Given the description of an element on the screen output the (x, y) to click on. 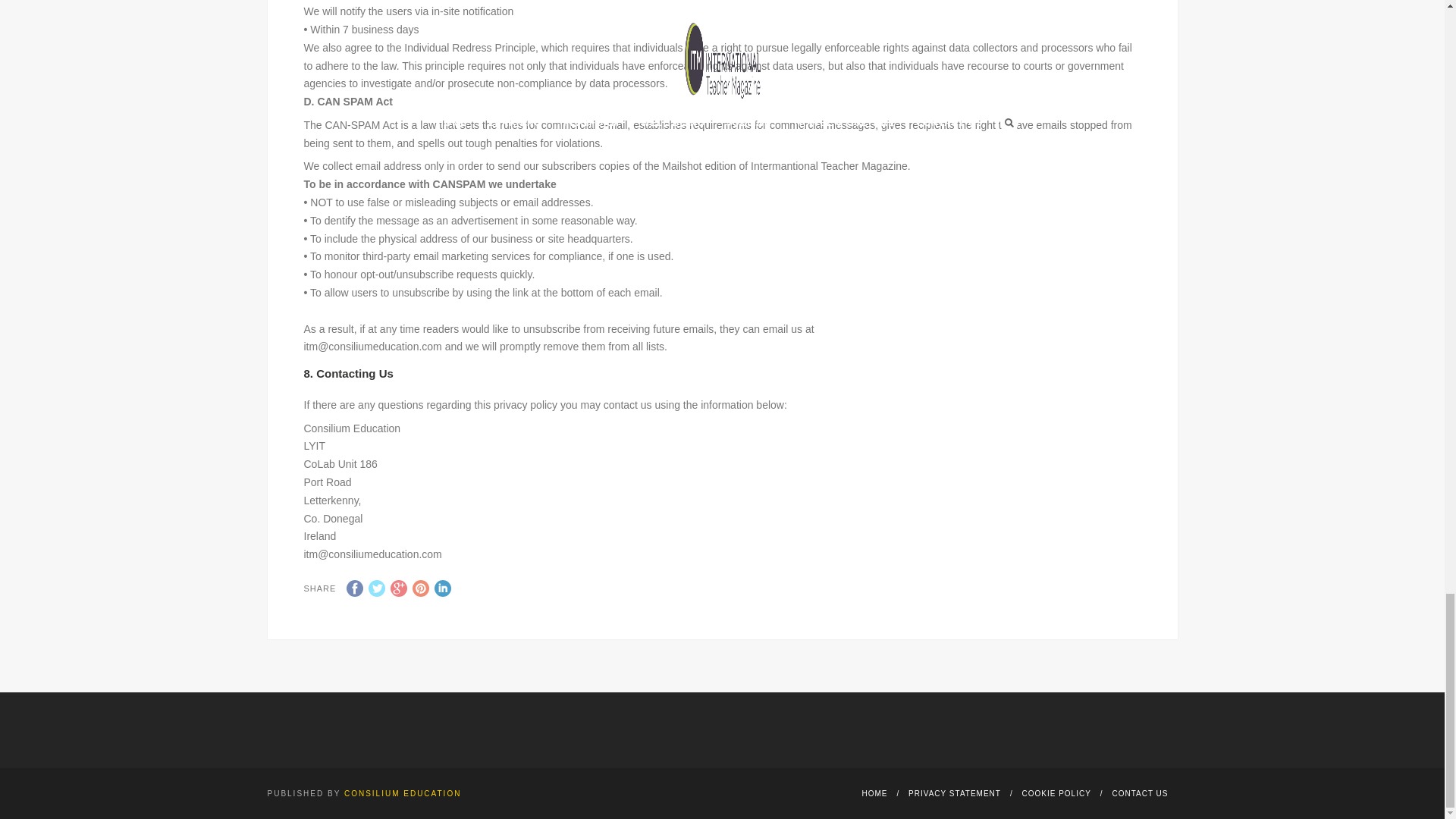
LinkedIn (442, 588)
Facebook (354, 588)
Twitter (376, 588)
Pinterest (420, 588)
